Given the description of an element on the screen output the (x, y) to click on. 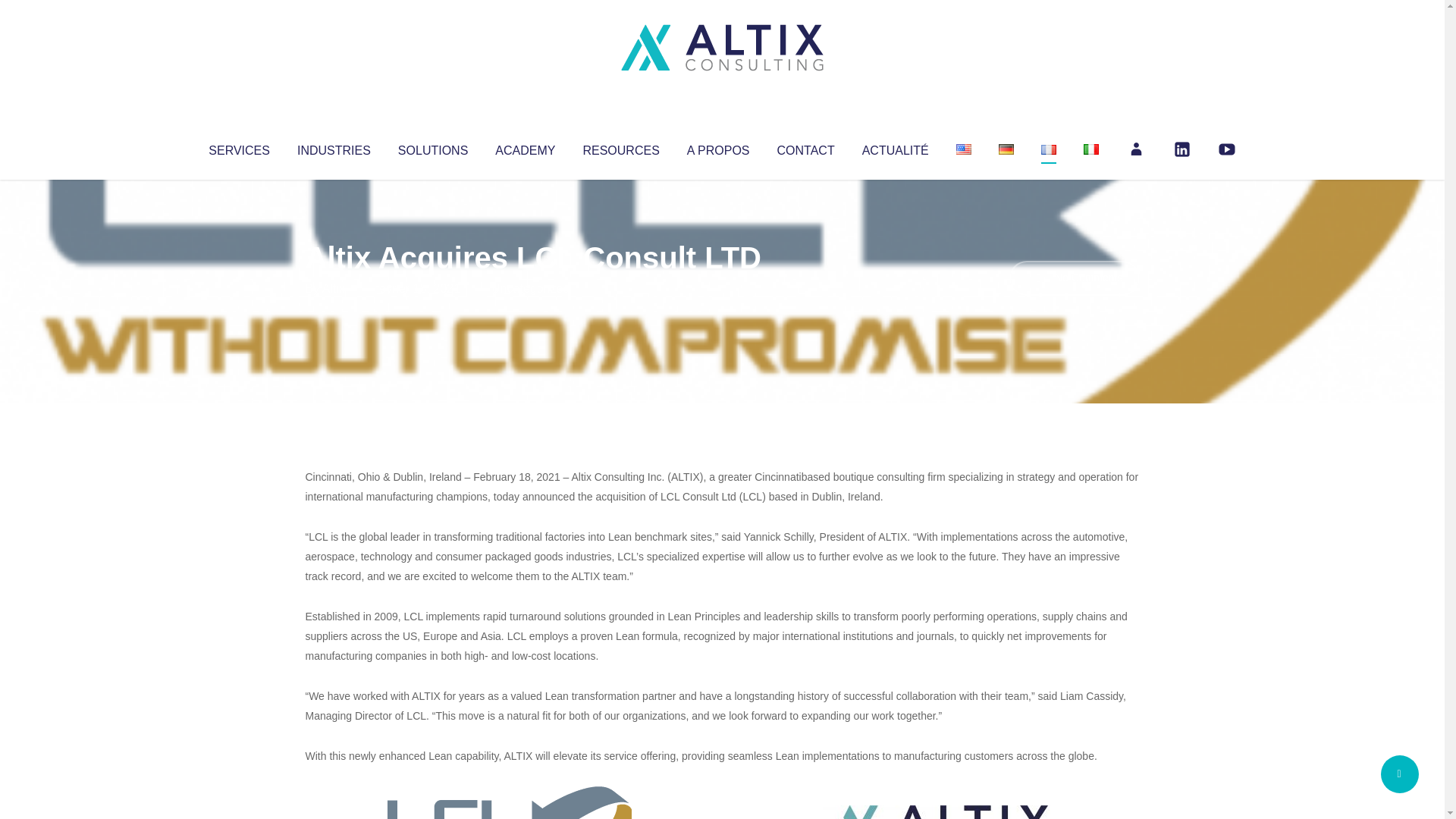
INDUSTRIES (334, 146)
No Comments (1073, 278)
A PROPOS (718, 146)
ACADEMY (524, 146)
SERVICES (238, 146)
RESOURCES (620, 146)
Articles par Altix (333, 287)
Uncategorized (530, 287)
SOLUTIONS (432, 146)
Altix (333, 287)
